Given the description of an element on the screen output the (x, y) to click on. 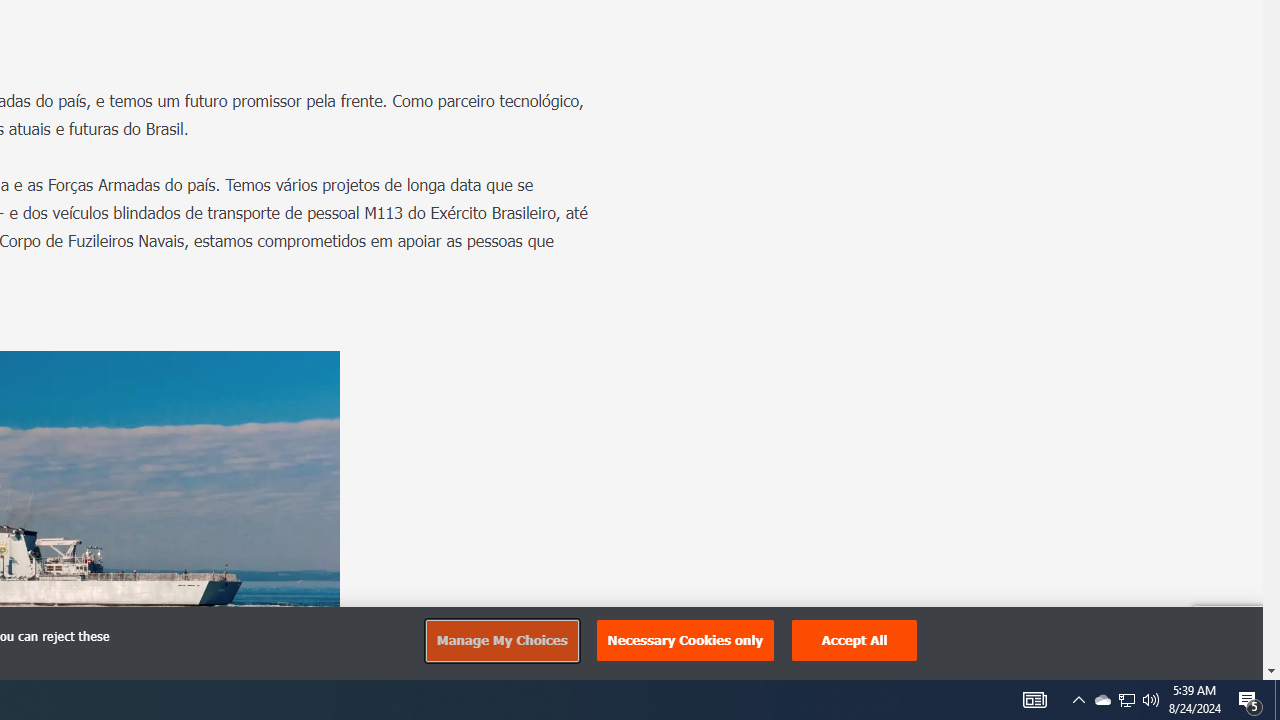
Accept All (854, 640)
Manage My Choices (501, 640)
Necessary Cookies only (685, 640)
